Given the description of an element on the screen output the (x, y) to click on. 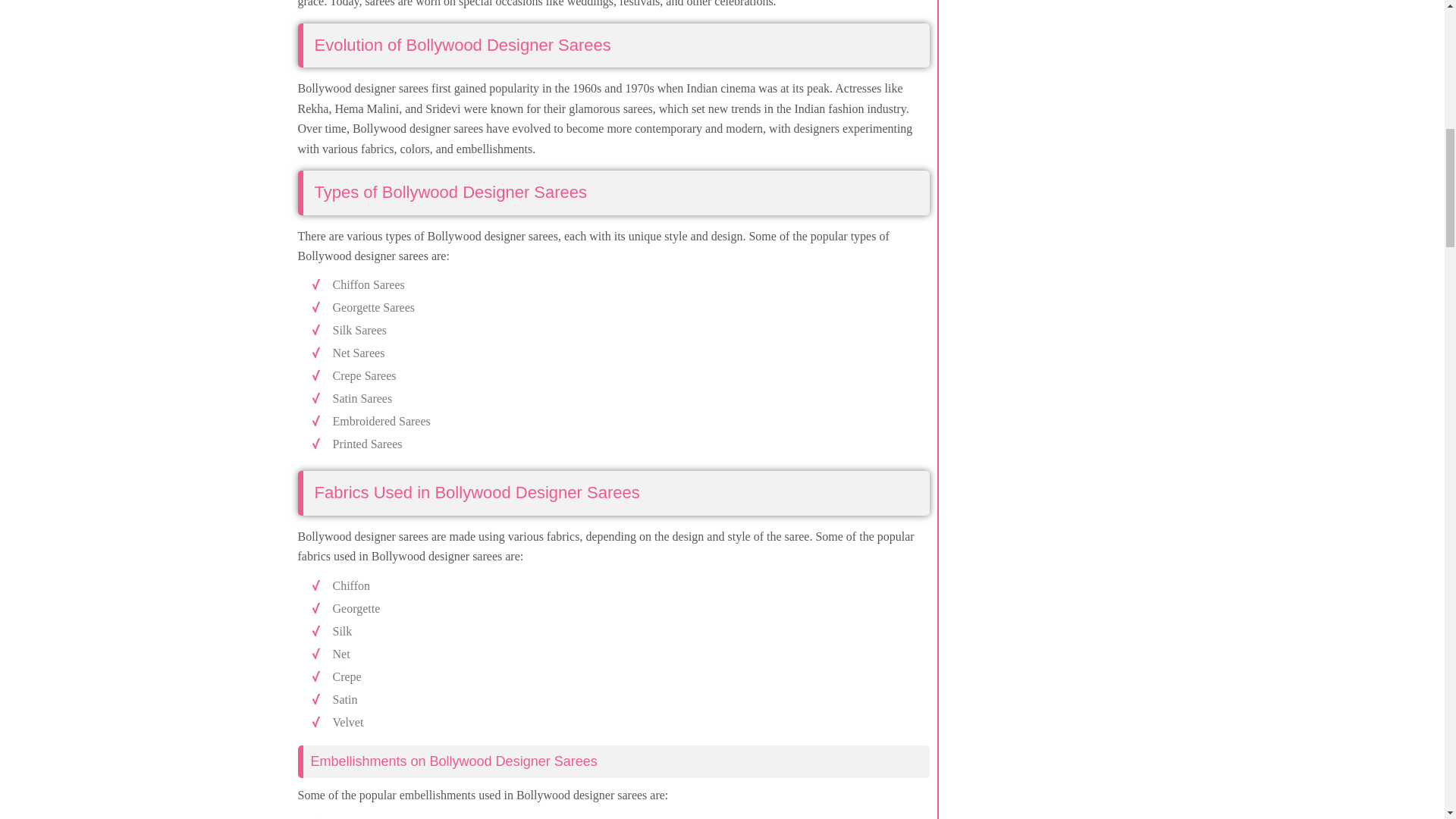
Advertisement (1069, 92)
